Given the description of an element on the screen output the (x, y) to click on. 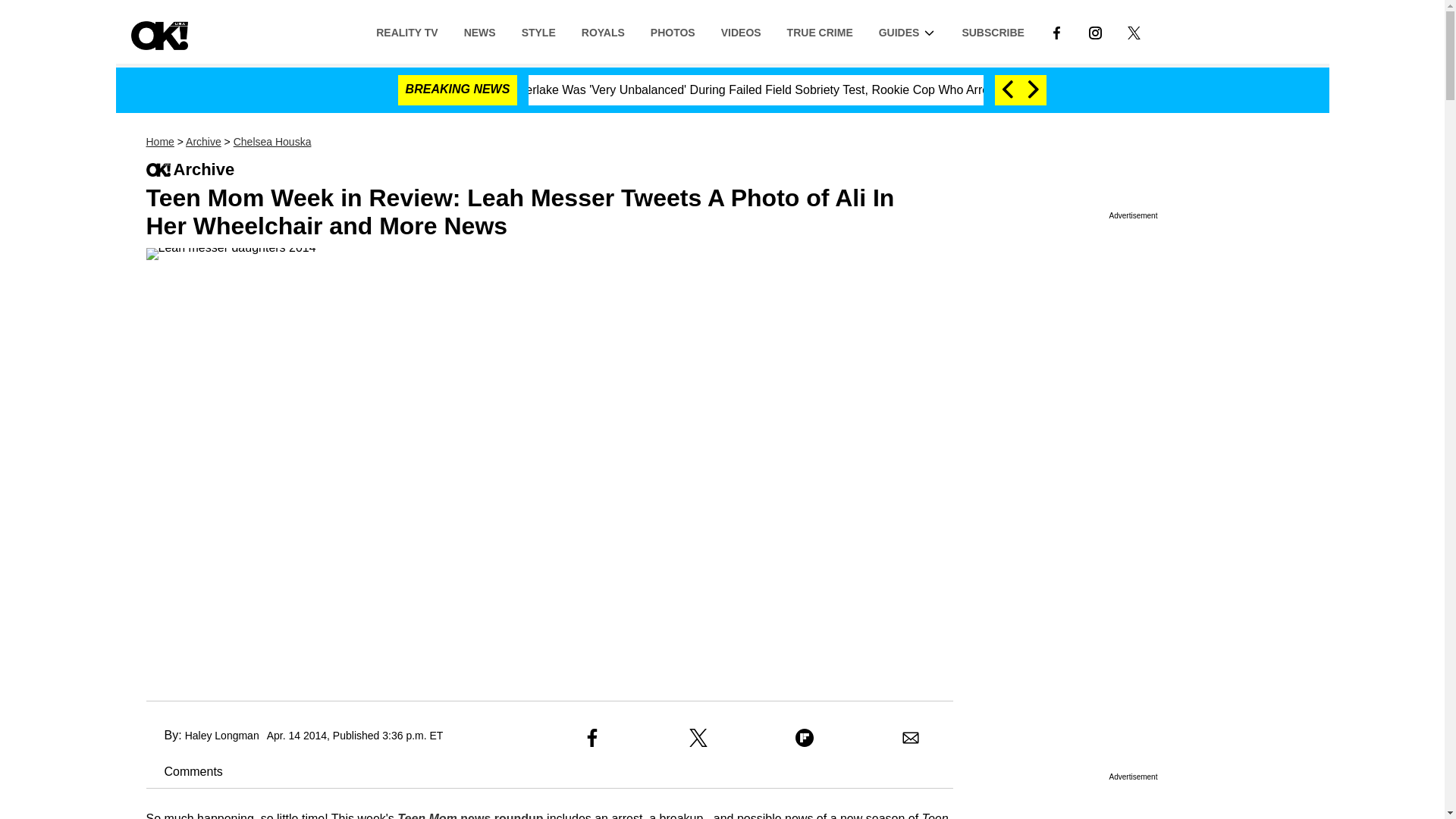
Link to Instagram (1095, 31)
PHOTOS (672, 31)
LINK TO INSTAGRAM (1095, 32)
Link to Facebook (1055, 31)
Chelsea Houska (271, 141)
LINK TO FACEBOOK (1055, 32)
Share to Email (909, 737)
Teen Mom news roundup (470, 815)
STYLE (538, 31)
VIDEOS (740, 31)
REALITY TV (405, 31)
Share to X (697, 737)
LINK TO INSTAGRAM (1095, 31)
Share to Facebook (590, 737)
